Given the description of an element on the screen output the (x, y) to click on. 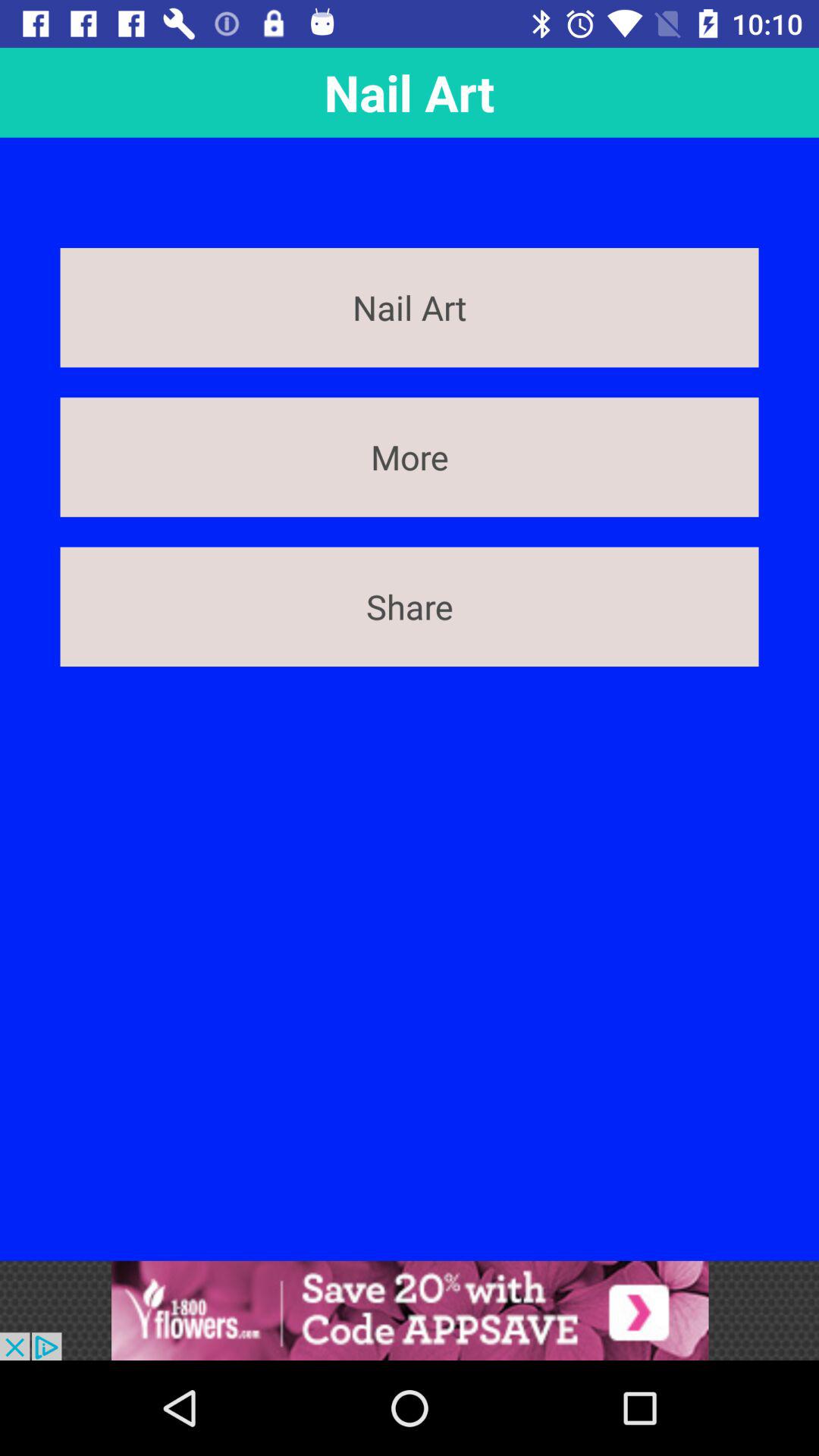
share the articles (409, 1310)
